Given the description of an element on the screen output the (x, y) to click on. 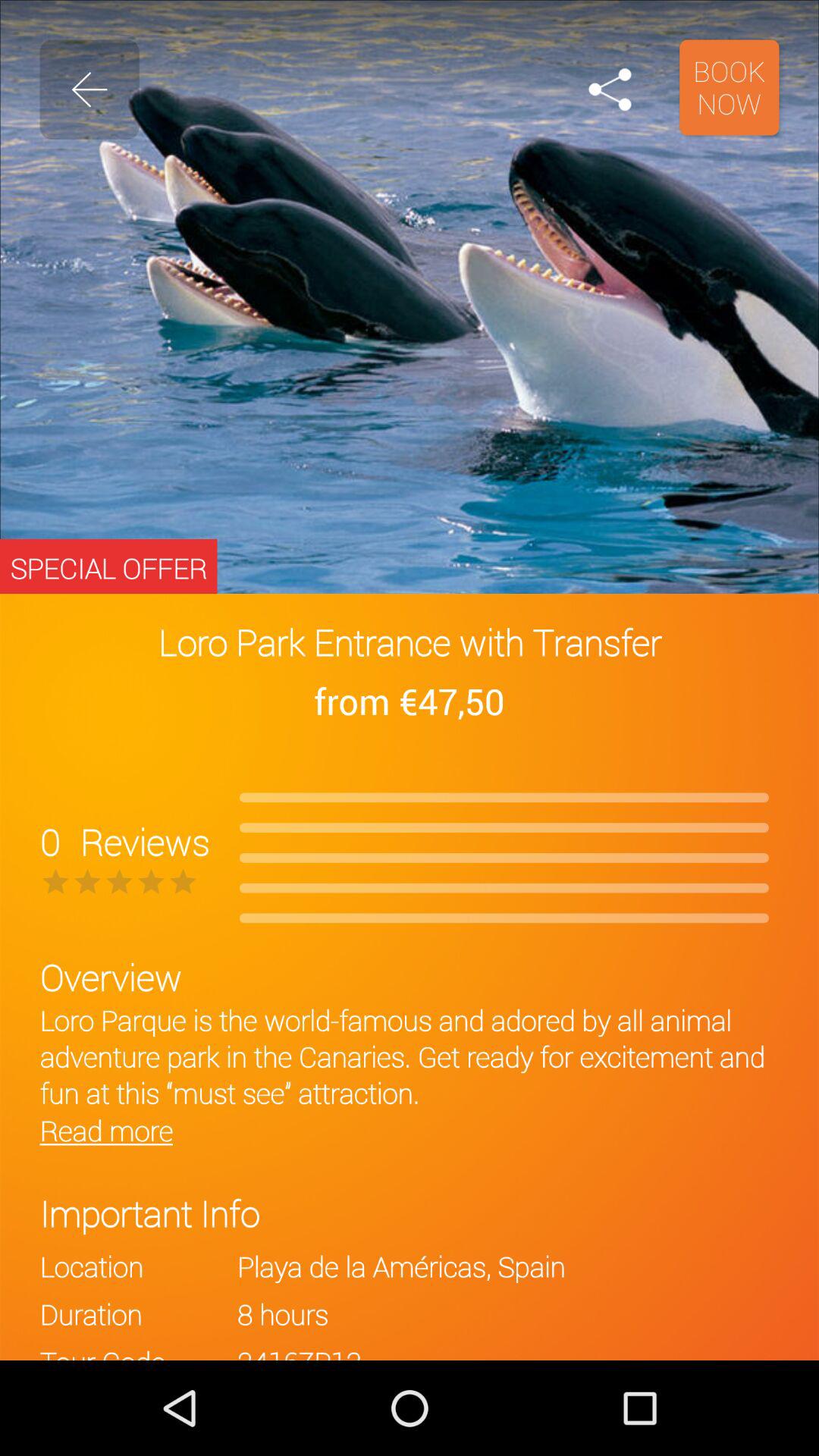
open icon next to book now icon (609, 89)
